Given the description of an element on the screen output the (x, y) to click on. 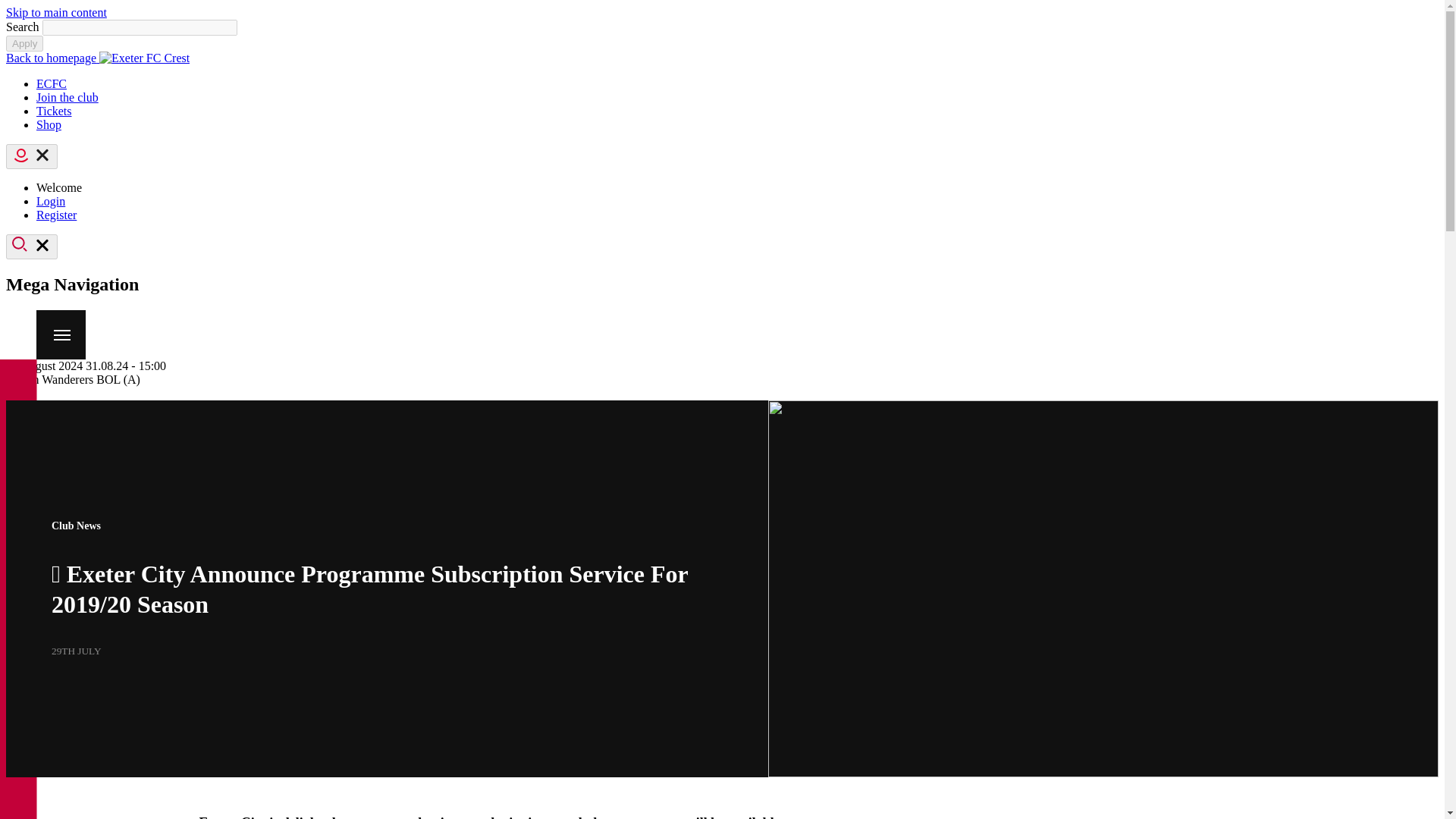
Account icon (20, 155)
Account icon (31, 156)
Tickets (53, 110)
Join the club (67, 97)
Apply (24, 43)
Register (56, 214)
Back to homepage (97, 57)
Shop (48, 124)
Search icon (31, 246)
Skip to main content (55, 11)
